Given the description of an element on the screen output the (x, y) to click on. 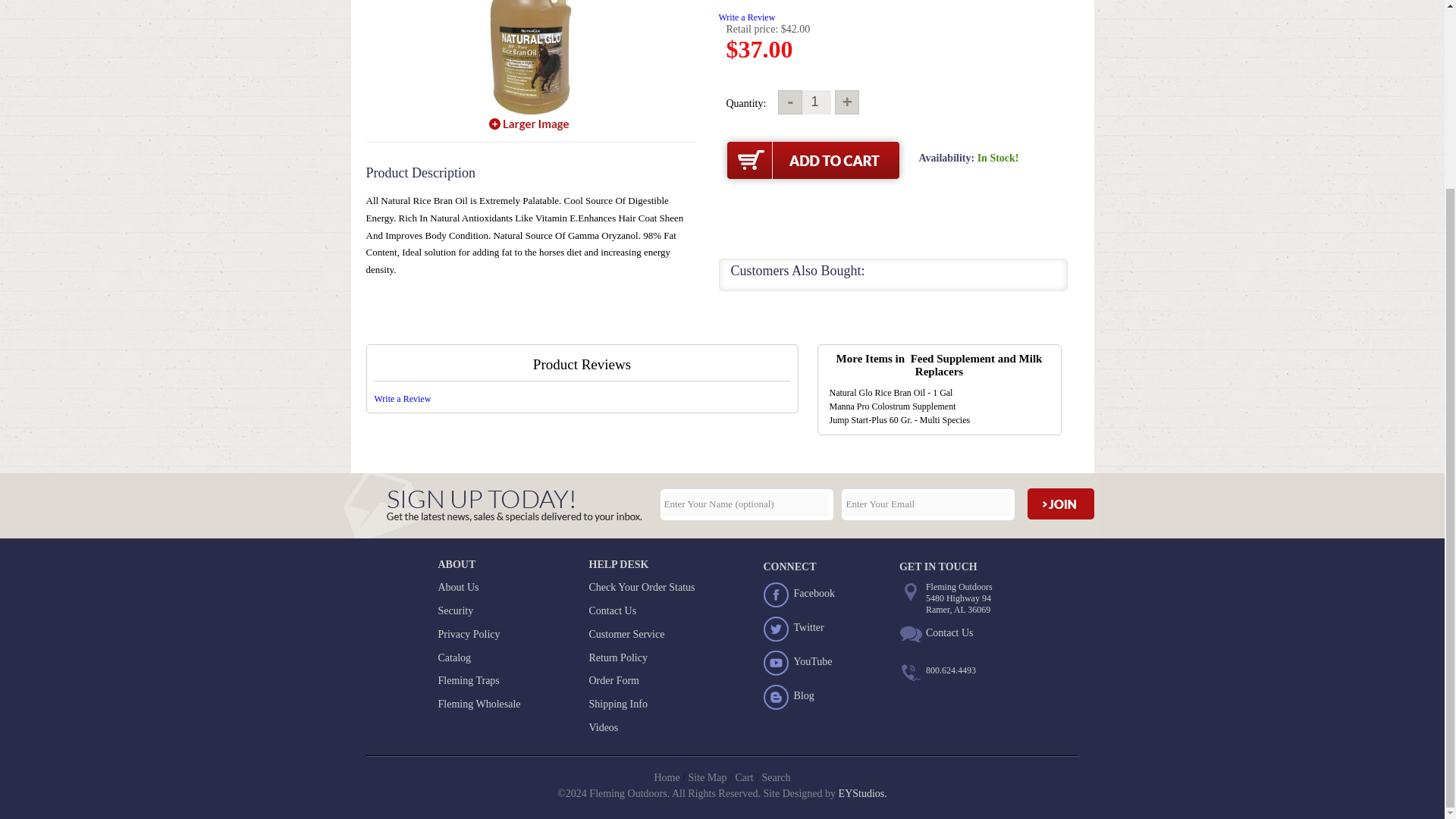
Enter Your Email (927, 503)
1 (814, 102)
Natural Glo Rice Bran Oil - 1 Gal (530, 57)
Natural Glo Rice Bran Oil - 1 Gal (529, 123)
